Given the description of an element on the screen output the (x, y) to click on. 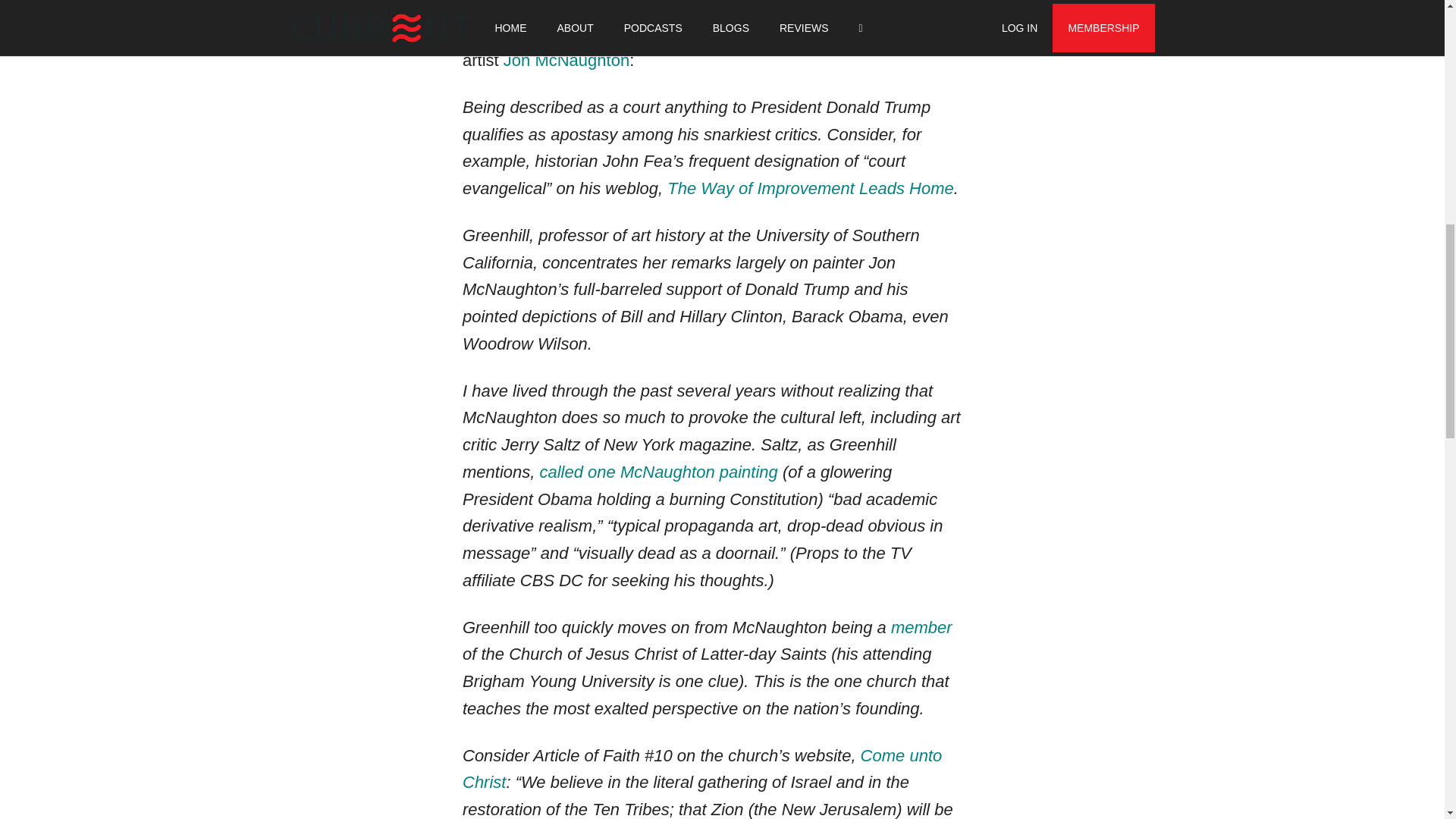
Come unto Christ (702, 769)
Jon McNaughton (565, 59)
piece (807, 32)
member (921, 626)
The Way of Improvement Leads Home (809, 188)
take (886, 7)
called one McNaughton painting (658, 471)
